Given the description of an element on the screen output the (x, y) to click on. 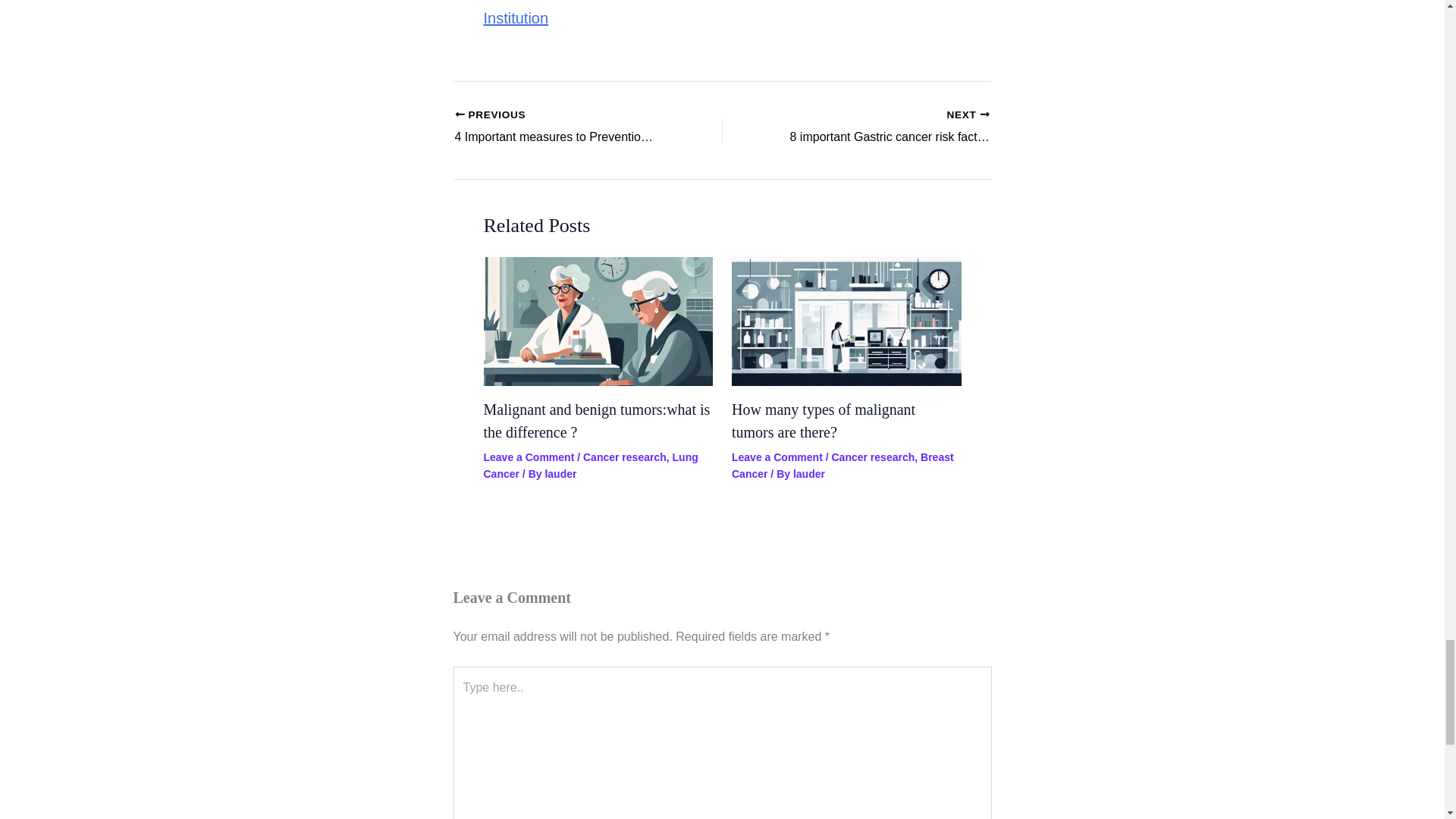
Leave a Comment (529, 457)
View all posts by lauder (560, 473)
Leave a Comment (777, 457)
lauder (809, 473)
View all posts by lauder (809, 473)
lauder (560, 473)
Cancer research (624, 457)
